Given the description of an element on the screen output the (x, y) to click on. 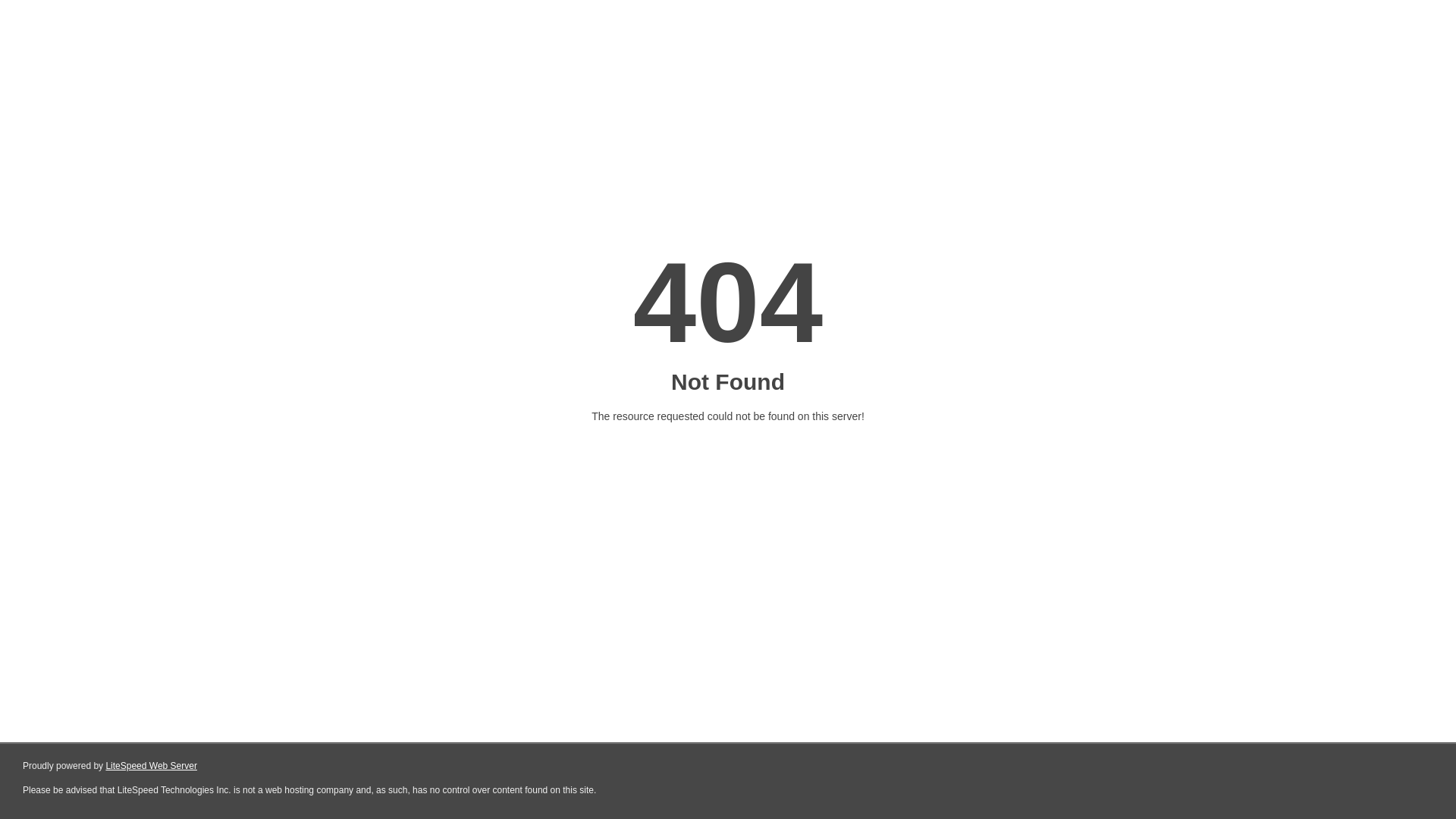
LiteSpeed Web Server Element type: text (151, 765)
